Given the description of an element on the screen output the (x, y) to click on. 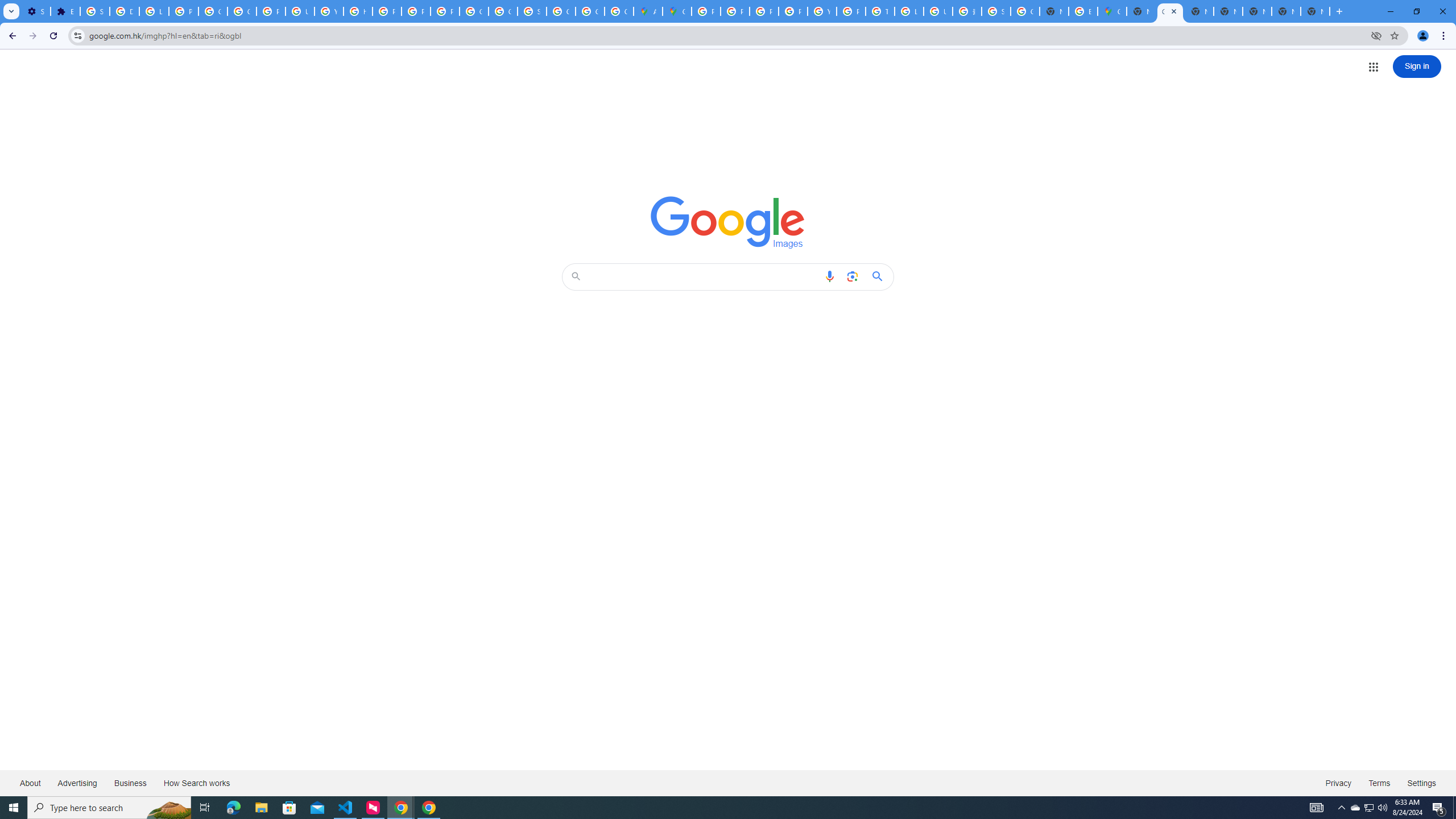
Tips & tricks for Chrome - Google Chrome Help (879, 11)
Learn how to find your photos - Google Photos Help (153, 11)
Explore new street-level details - Google Maps Help (1082, 11)
YouTube (821, 11)
Settings (1421, 782)
Google Images (1169, 11)
Google Account Help (212, 11)
